Given the description of an element on the screen output the (x, y) to click on. 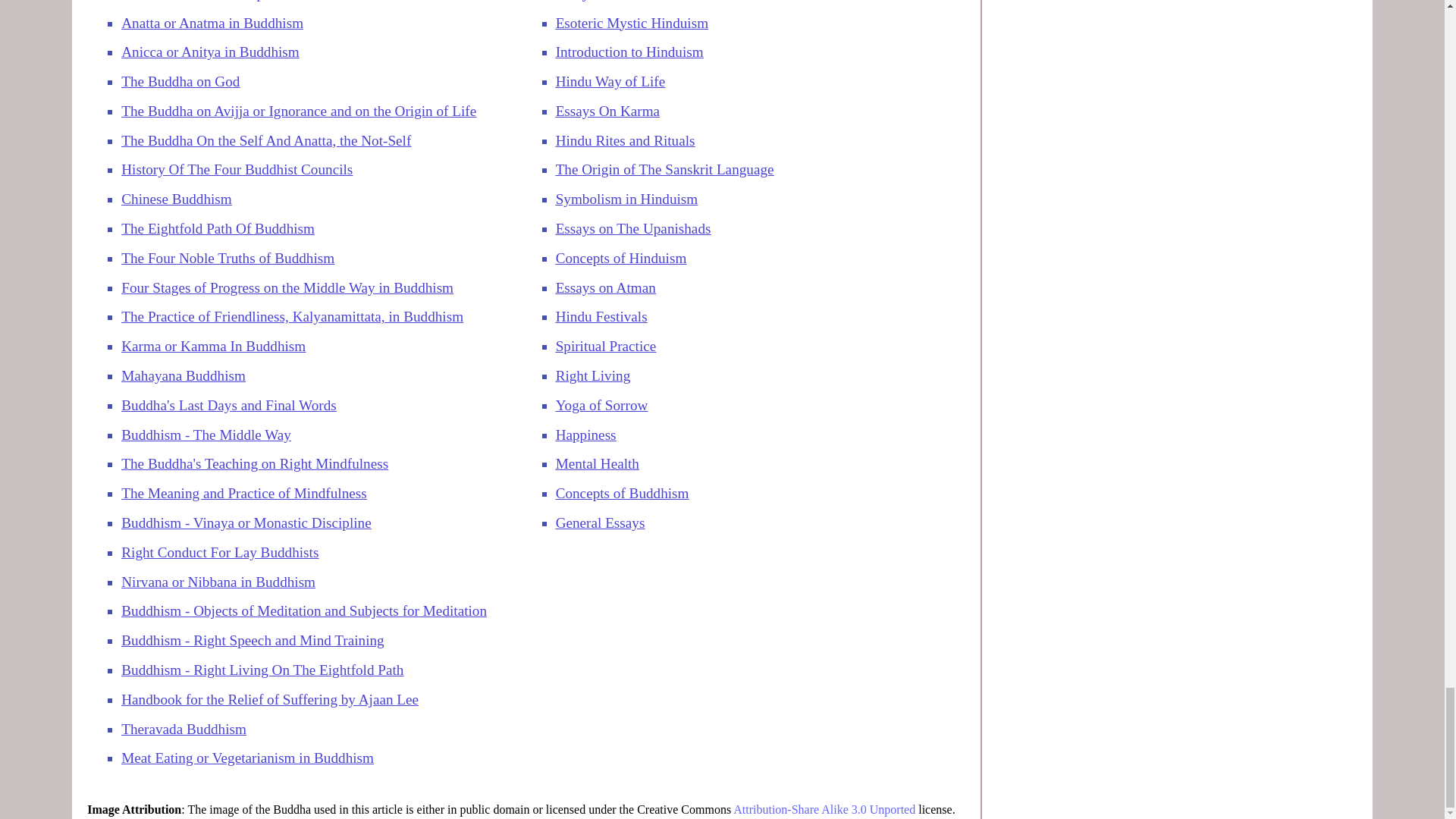
Anatta or Anatma in Buddhism (211, 22)
The Buddha On the Self And Anatta, the Not-Self (265, 140)
The Buddha's Teaching on Right Mindfulness (254, 463)
Mahayana Buddhism (183, 375)
Karma or Kamma In Buddhism (212, 345)
History Of The Four Buddhist Councils (236, 169)
The Buddha on God (180, 81)
The Four Noble Truths of Buddhism (227, 258)
The Practice of Friendliness, Kalyanamittata, in Buddhism (291, 316)
